Given the description of an element on the screen output the (x, y) to click on. 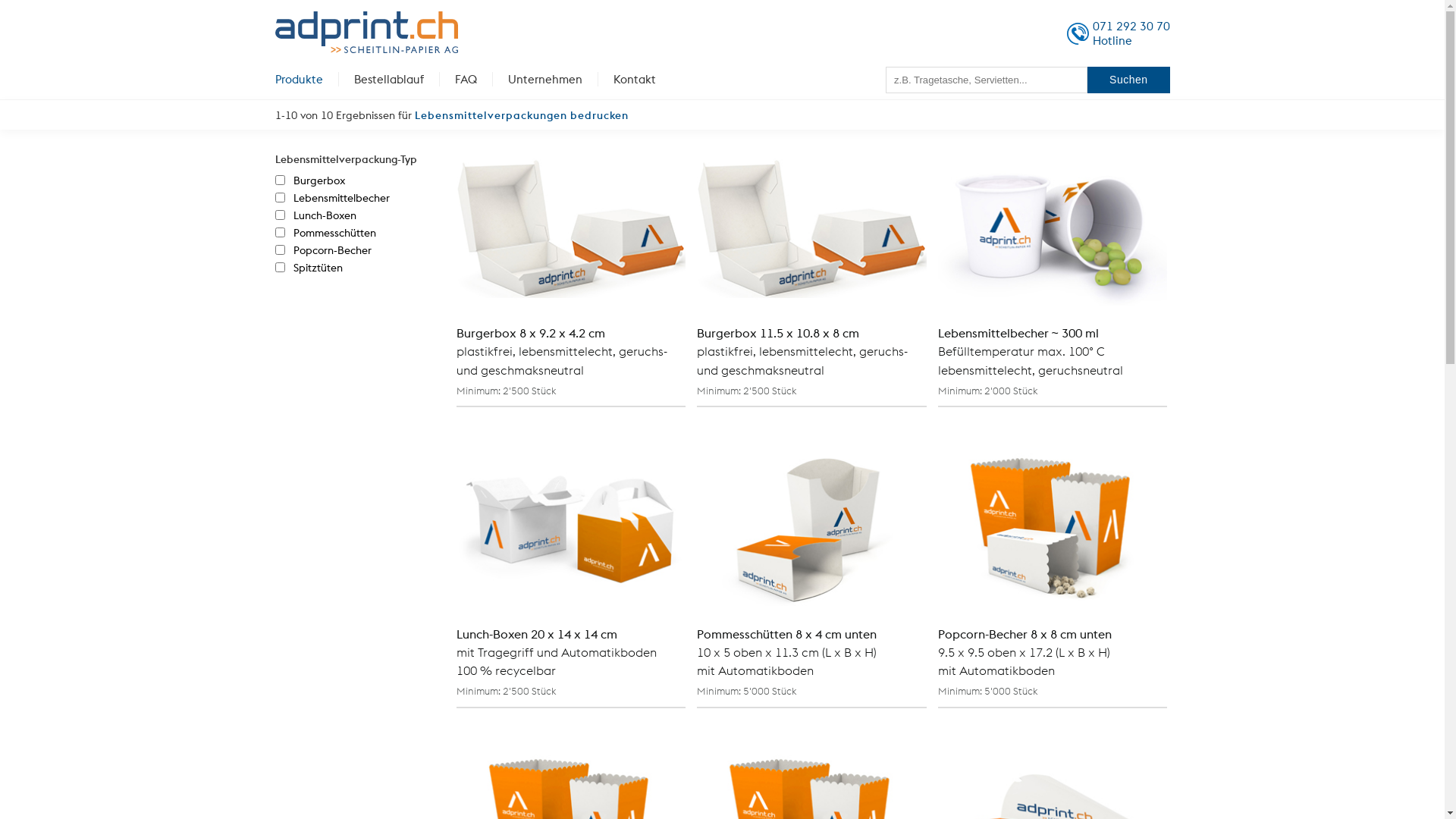
Suchen Element type: text (1128, 79)
Bestellablauf Element type: text (388, 79)
Popcorn-Becher Element type: text (322, 250)
071 292 30 70 Element type: text (1130, 25)
Lebensmittelverpackungen bedrucken Element type: text (520, 114)
Lebensmittelbecher Element type: text (331, 198)
Unternehmen Element type: text (544, 79)
FAQ Element type: text (465, 79)
Lunch-Boxen Element type: text (315, 215)
Kontakt Element type: text (633, 79)
Burgerbox Element type: text (309, 180)
Produkte Element type: text (305, 79)
